Given the description of an element on the screen output the (x, y) to click on. 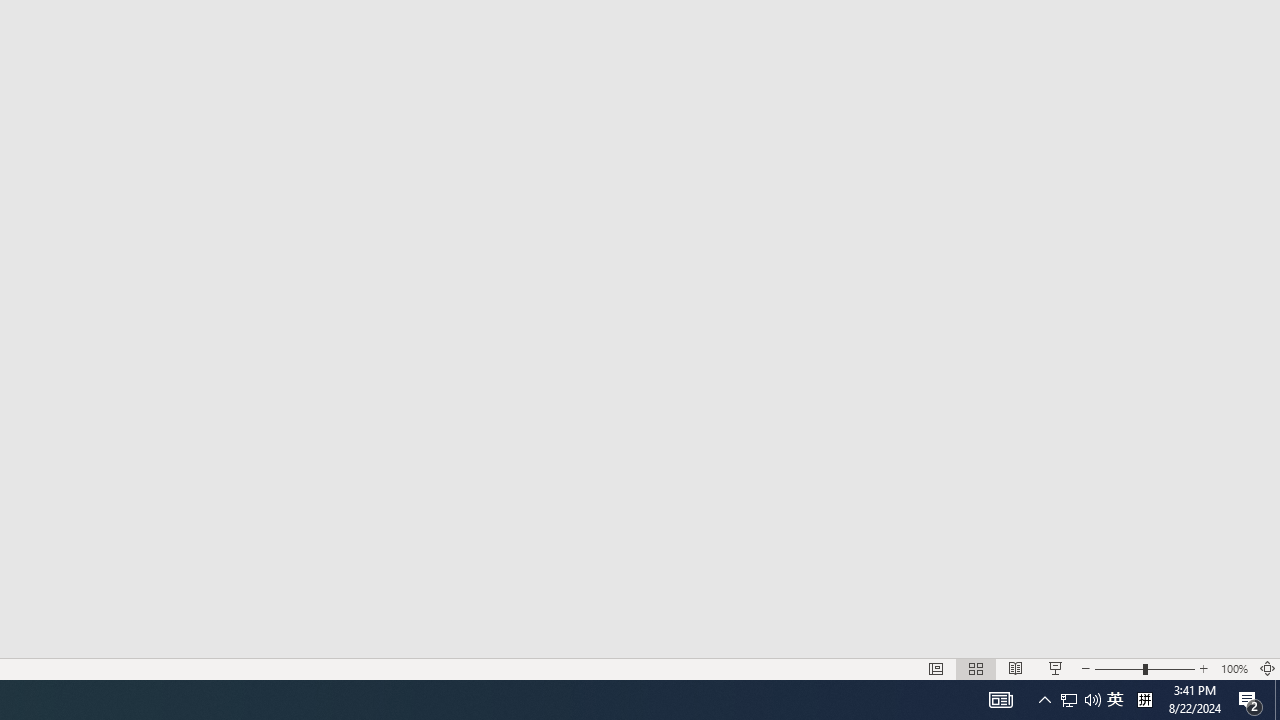
Zoom 100% (1234, 668)
